Given the description of an element on the screen output the (x, y) to click on. 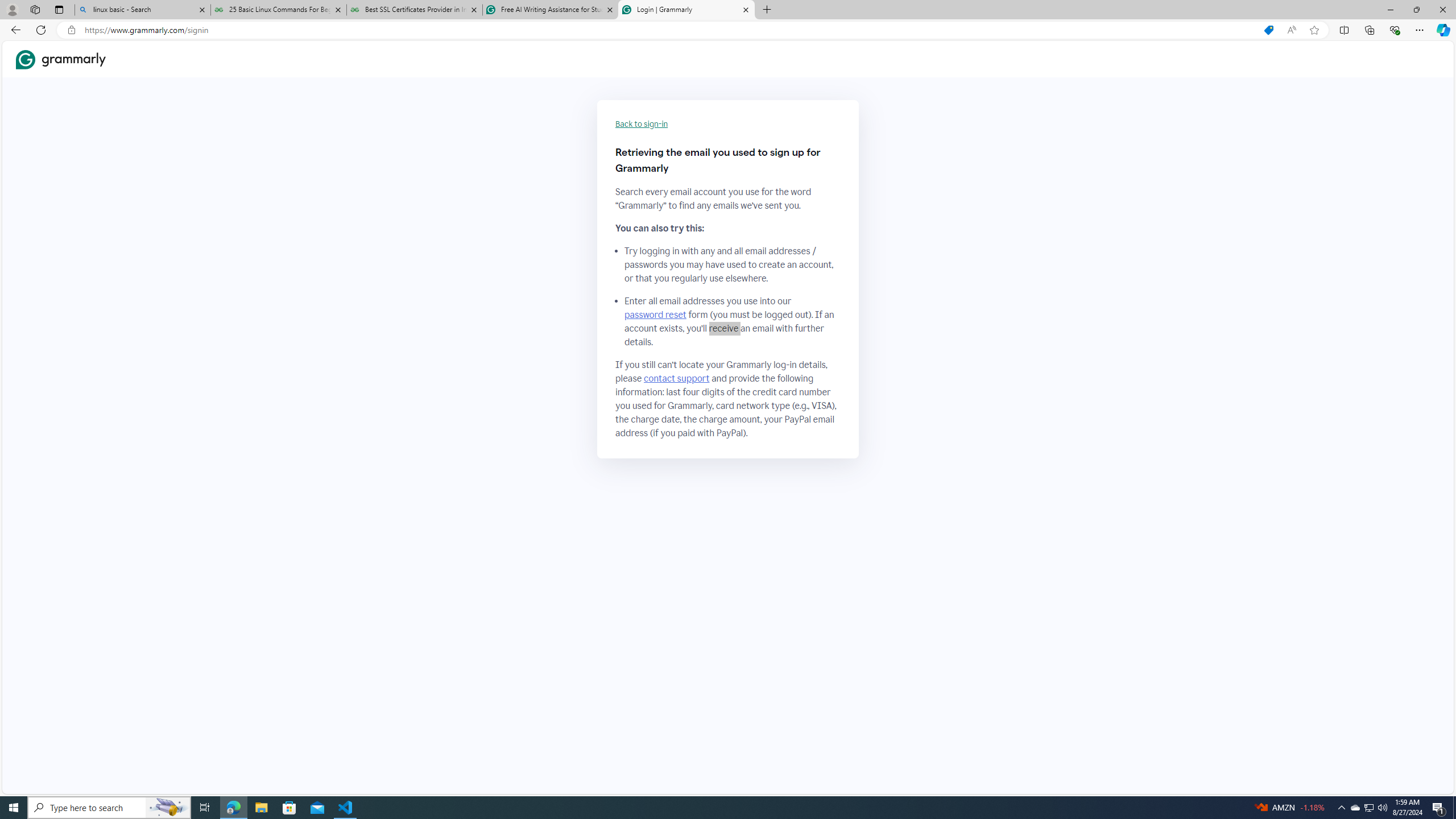
Grammarly Home (61, 58)
Login | Grammarly (685, 9)
Grammarly Home (61, 59)
